Given the description of an element on the screen output the (x, y) to click on. 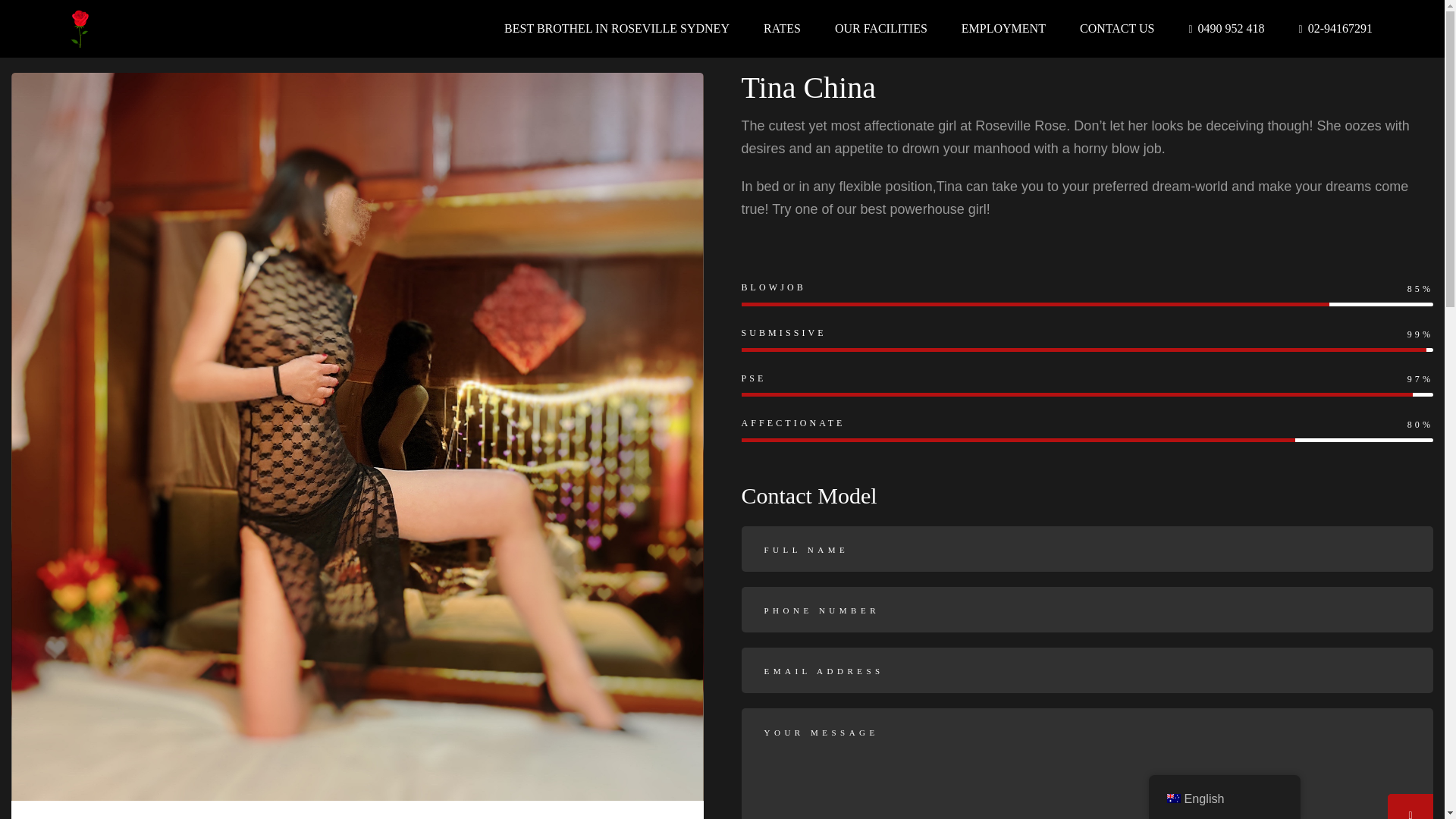
BEST BROTHEL IN ROSEVILLE SYDNEY (616, 28)
CONTACT US (1117, 28)
02-94167291 (1335, 28)
Send (1409, 806)
0490 952 418 (1225, 28)
Send (1409, 806)
RATES (781, 28)
OUR FACILITIES (880, 28)
EMPLOYMENT (1002, 28)
English (1172, 798)
